Given the description of an element on the screen output the (x, y) to click on. 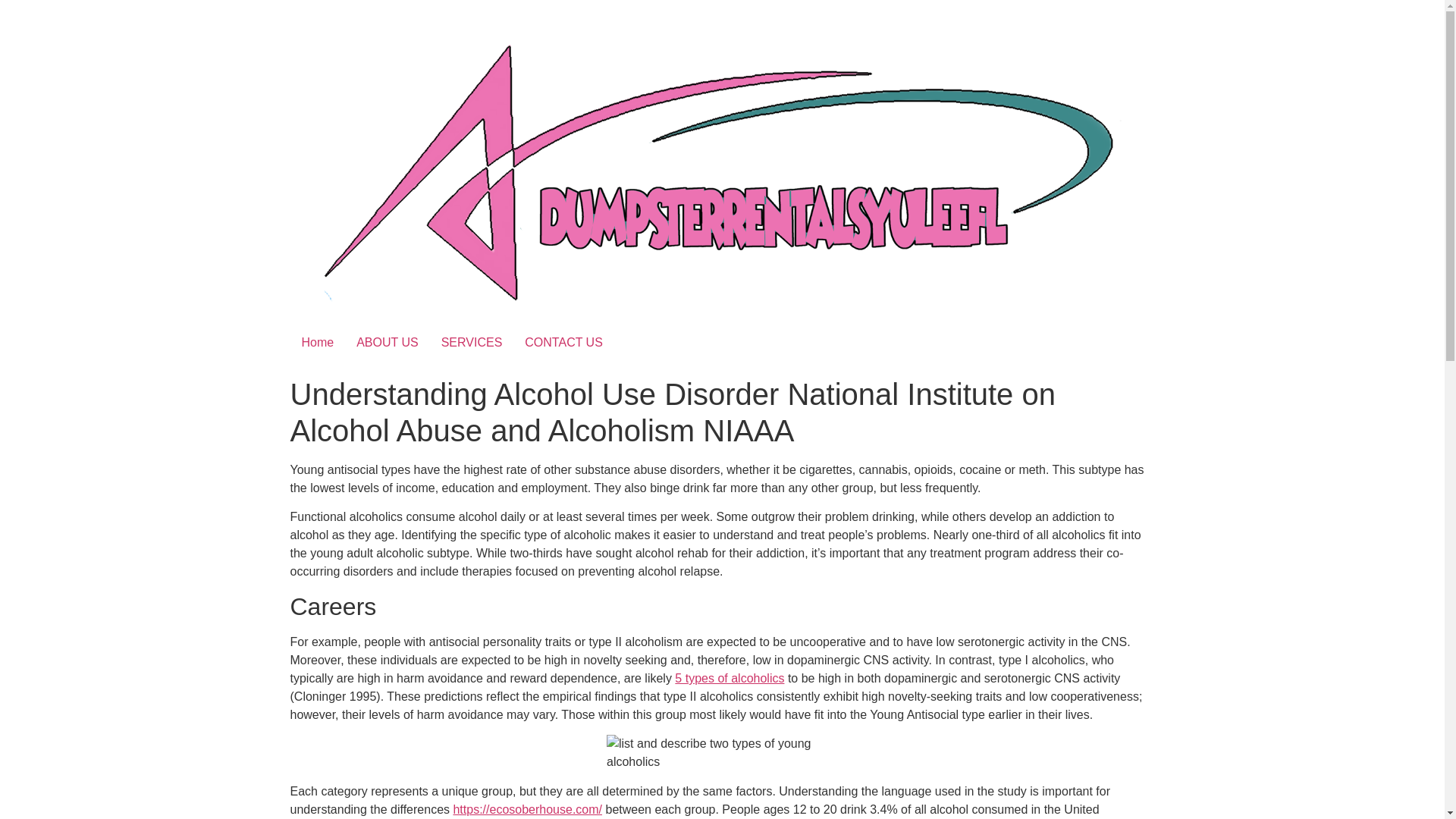
ABOUT US (387, 342)
5 types of alcoholics (729, 677)
SERVICES (471, 342)
Home (317, 342)
CONTACT US (563, 342)
